Given the description of an element on the screen output the (x, y) to click on. 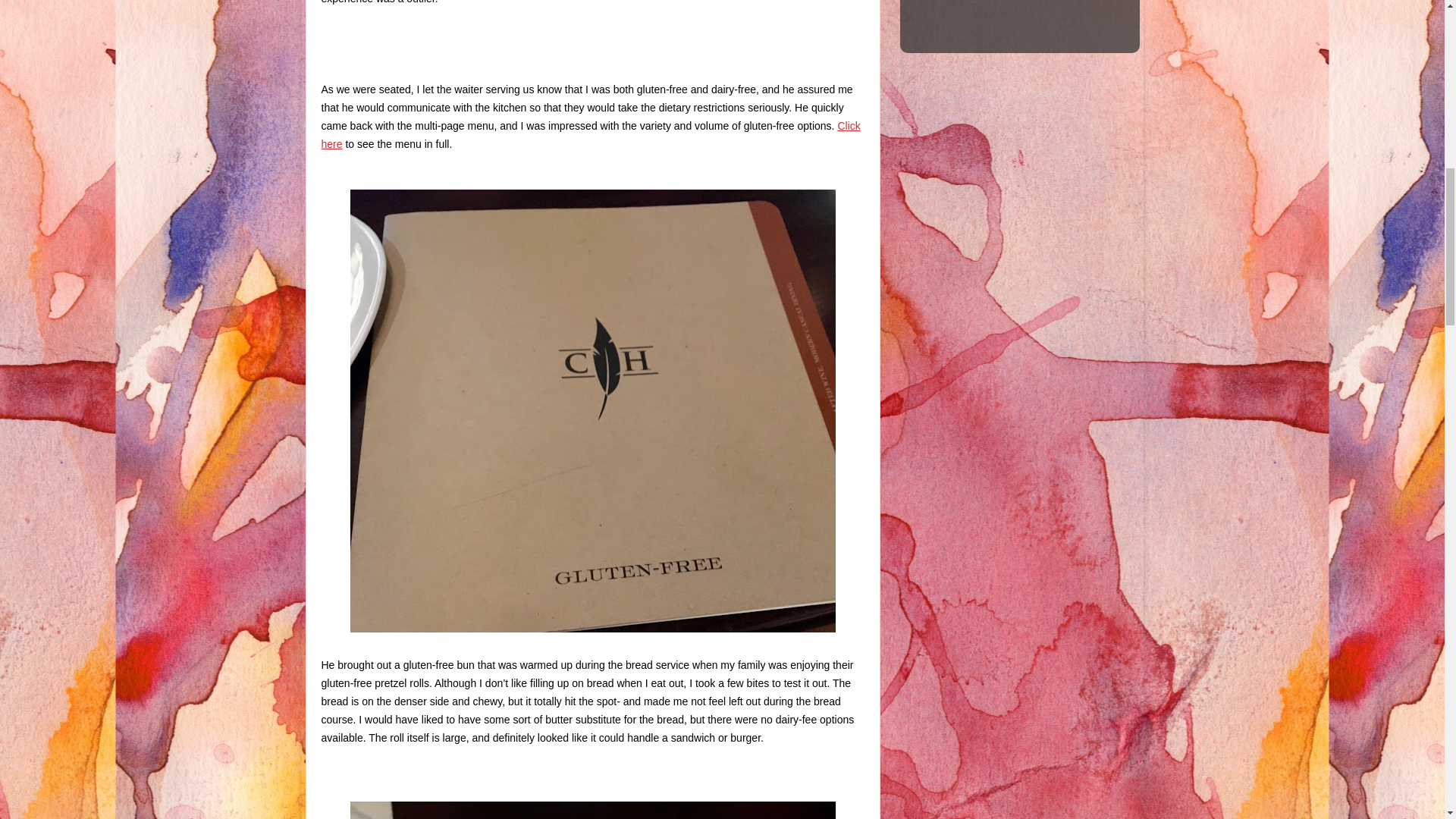
Click here (590, 134)
